Given the description of an element on the screen output the (x, y) to click on. 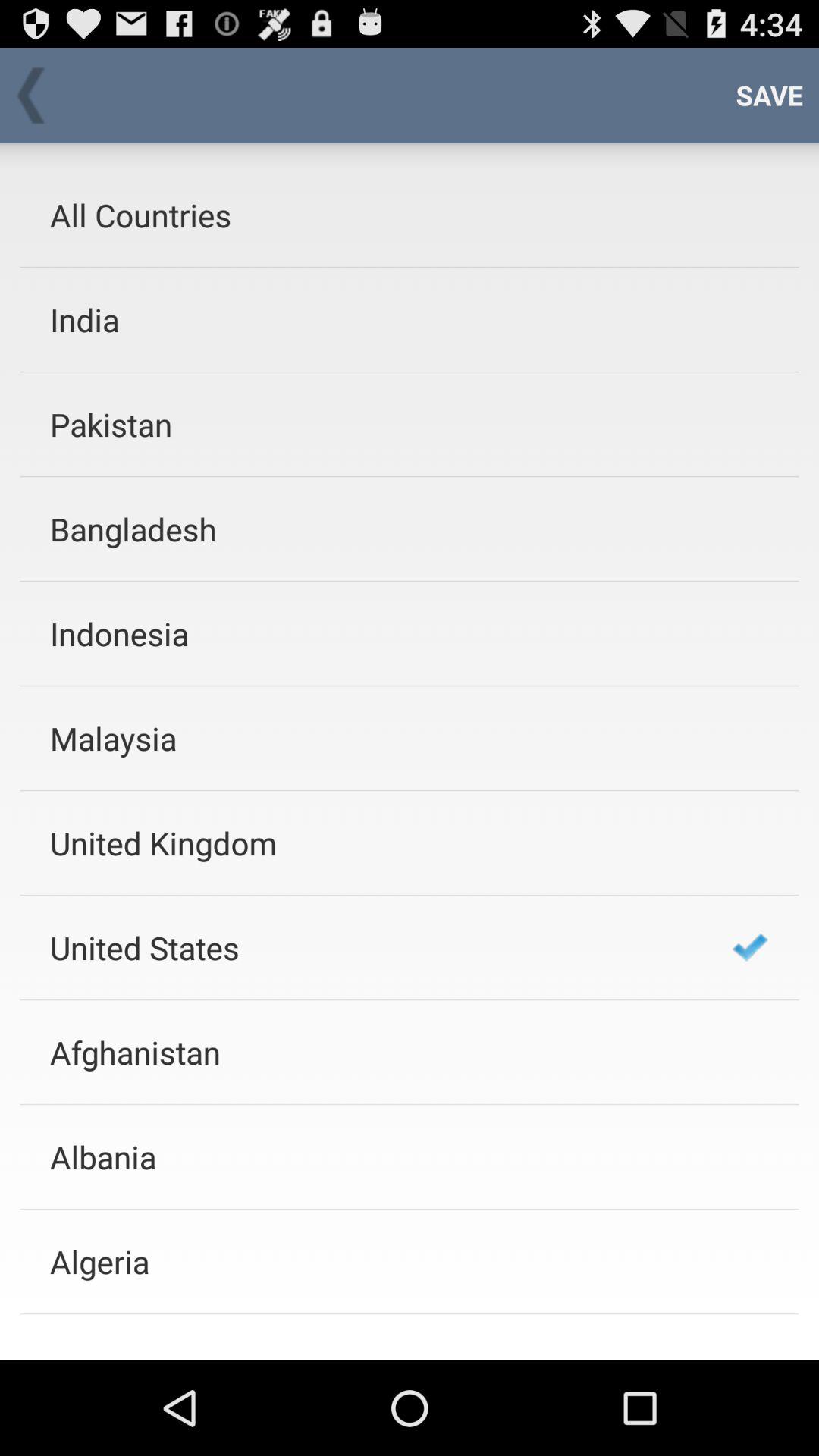
tap bangladesh icon (371, 528)
